Given the description of an element on the screen output the (x, y) to click on. 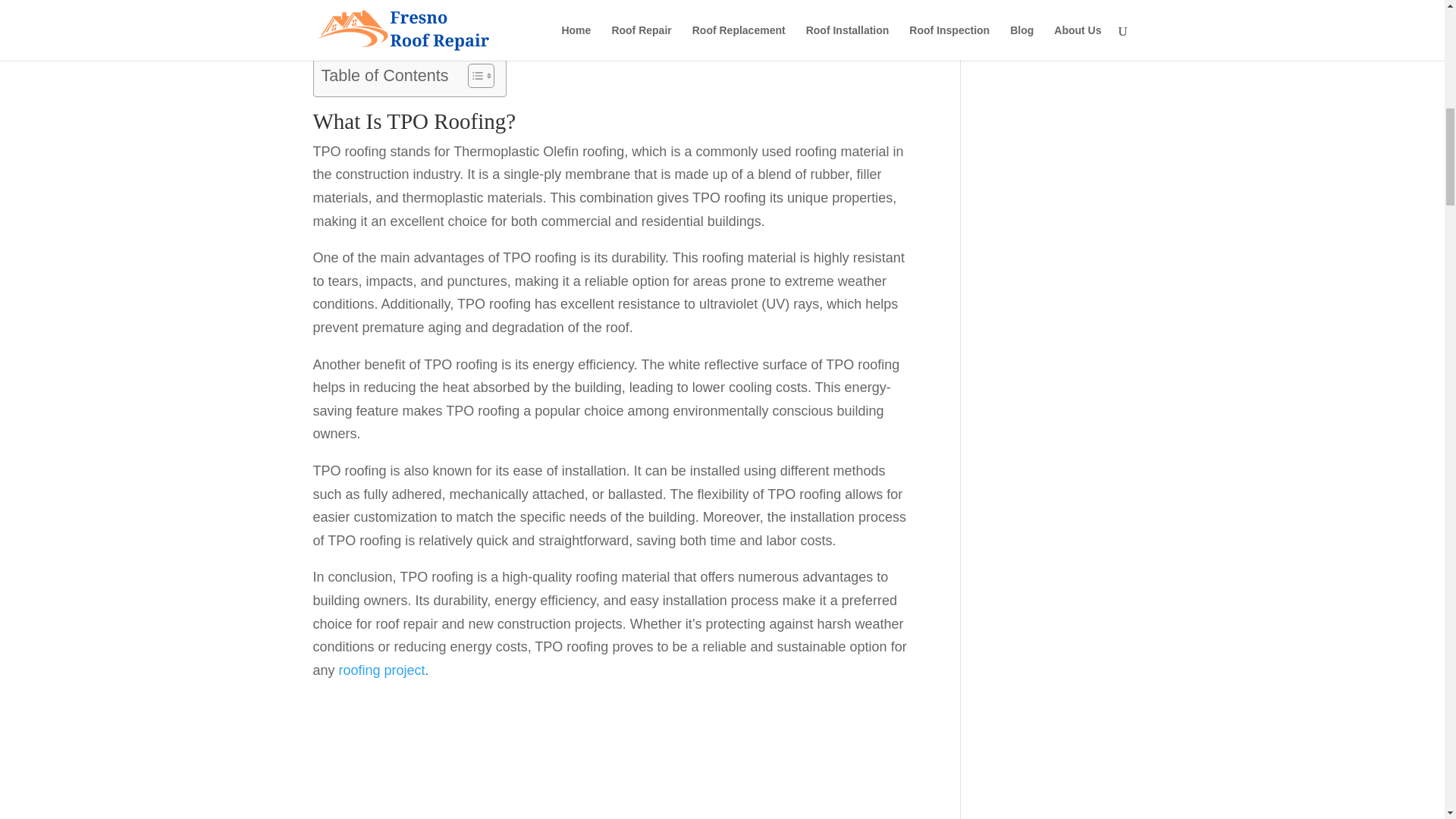
roofing project (382, 670)
